Given the description of an element on the screen output the (x, y) to click on. 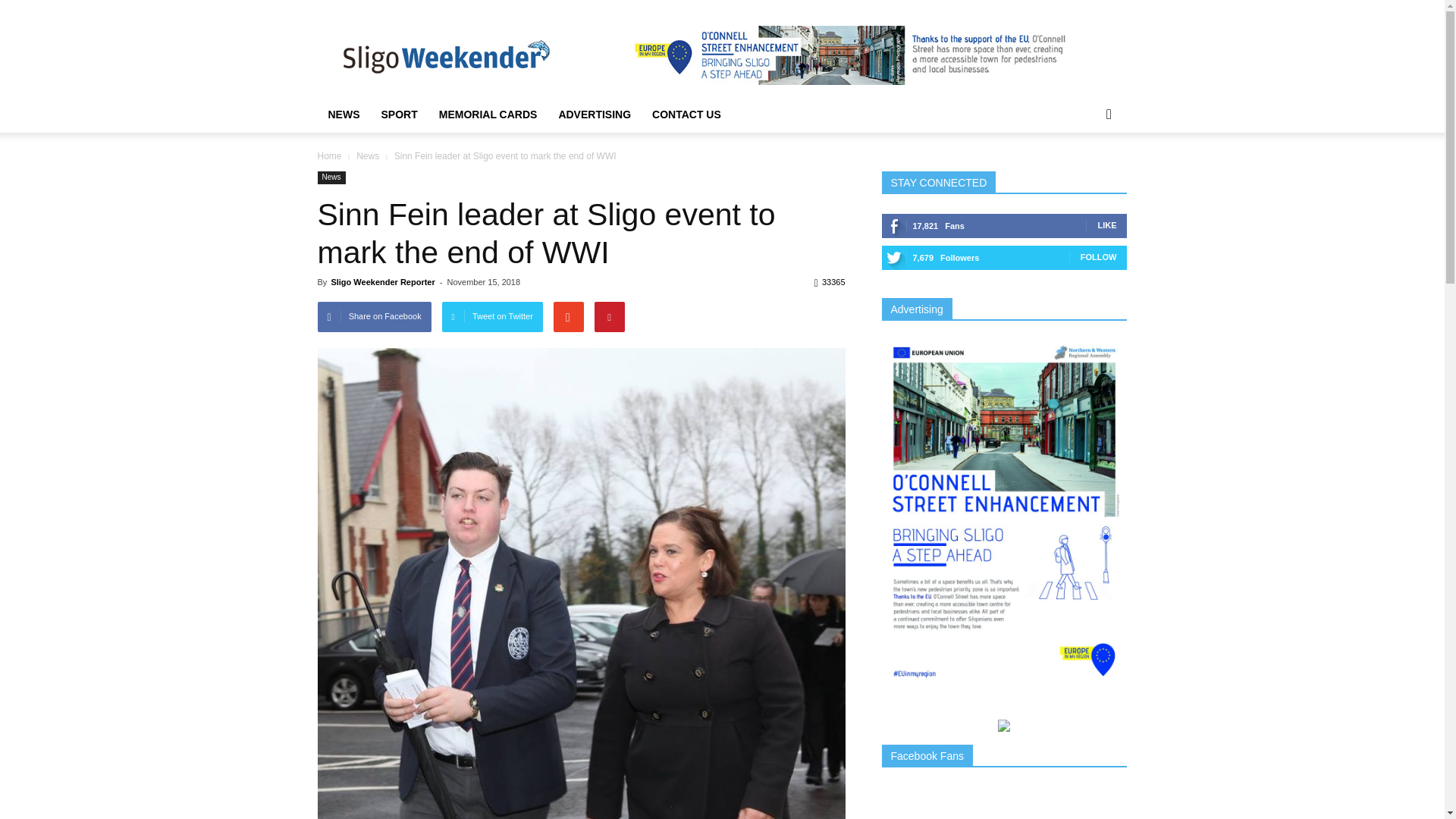
Share on Facebook (373, 317)
MEMORIAL CARDS (488, 114)
Tweet on Twitter (492, 317)
View all posts in News (368, 155)
CONTACT US (687, 114)
ADVERTISING (594, 114)
Sligo Weekender Reporter (381, 281)
News (331, 177)
NEWS (343, 114)
Home (328, 155)
News (368, 155)
SPORT (398, 114)
